Given the description of an element on the screen output the (x, y) to click on. 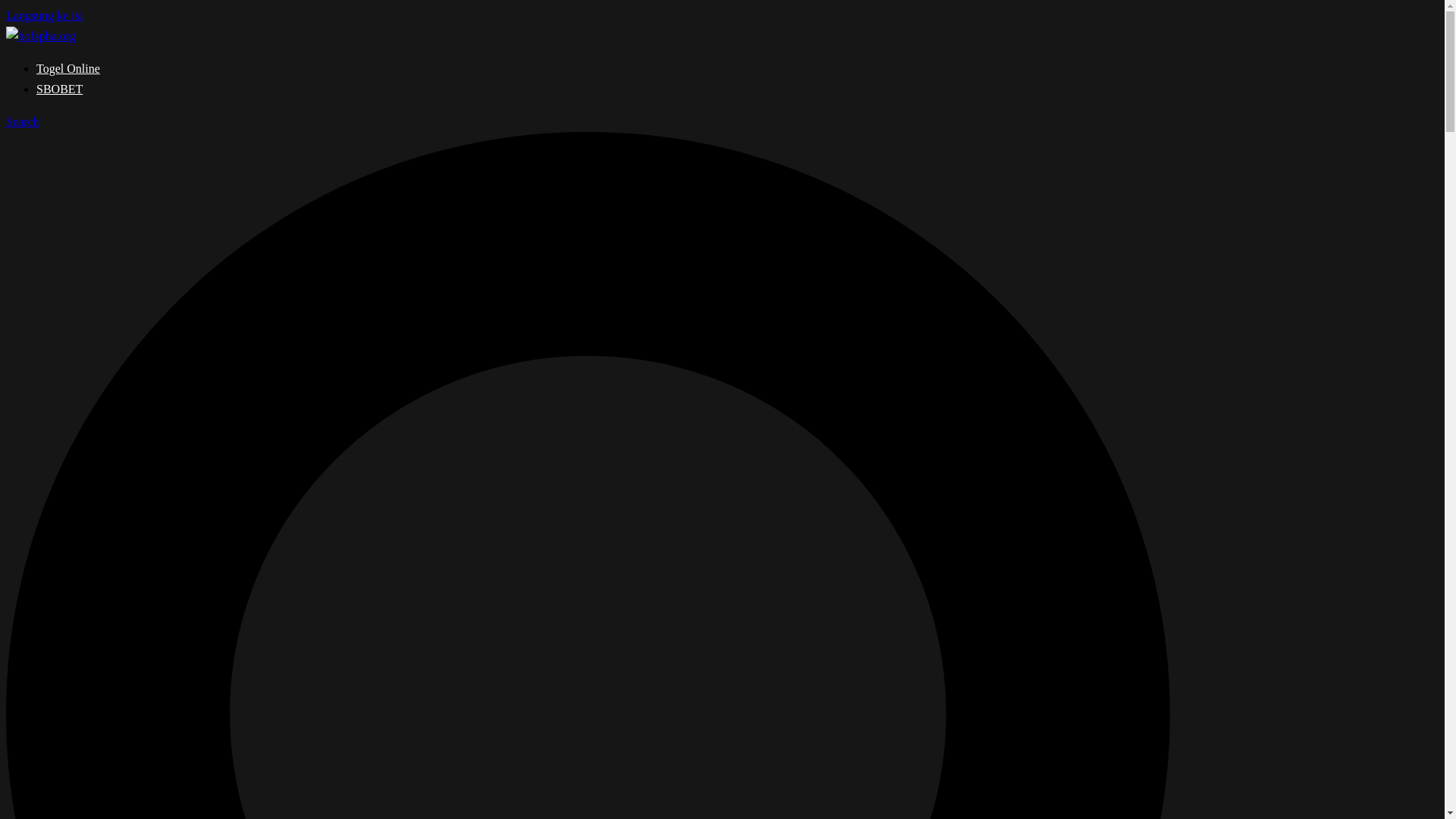
SBOBET (59, 88)
hofspha.org (40, 35)
Togel Online (68, 68)
Langsung ke isi (43, 15)
